Given the description of an element on the screen output the (x, y) to click on. 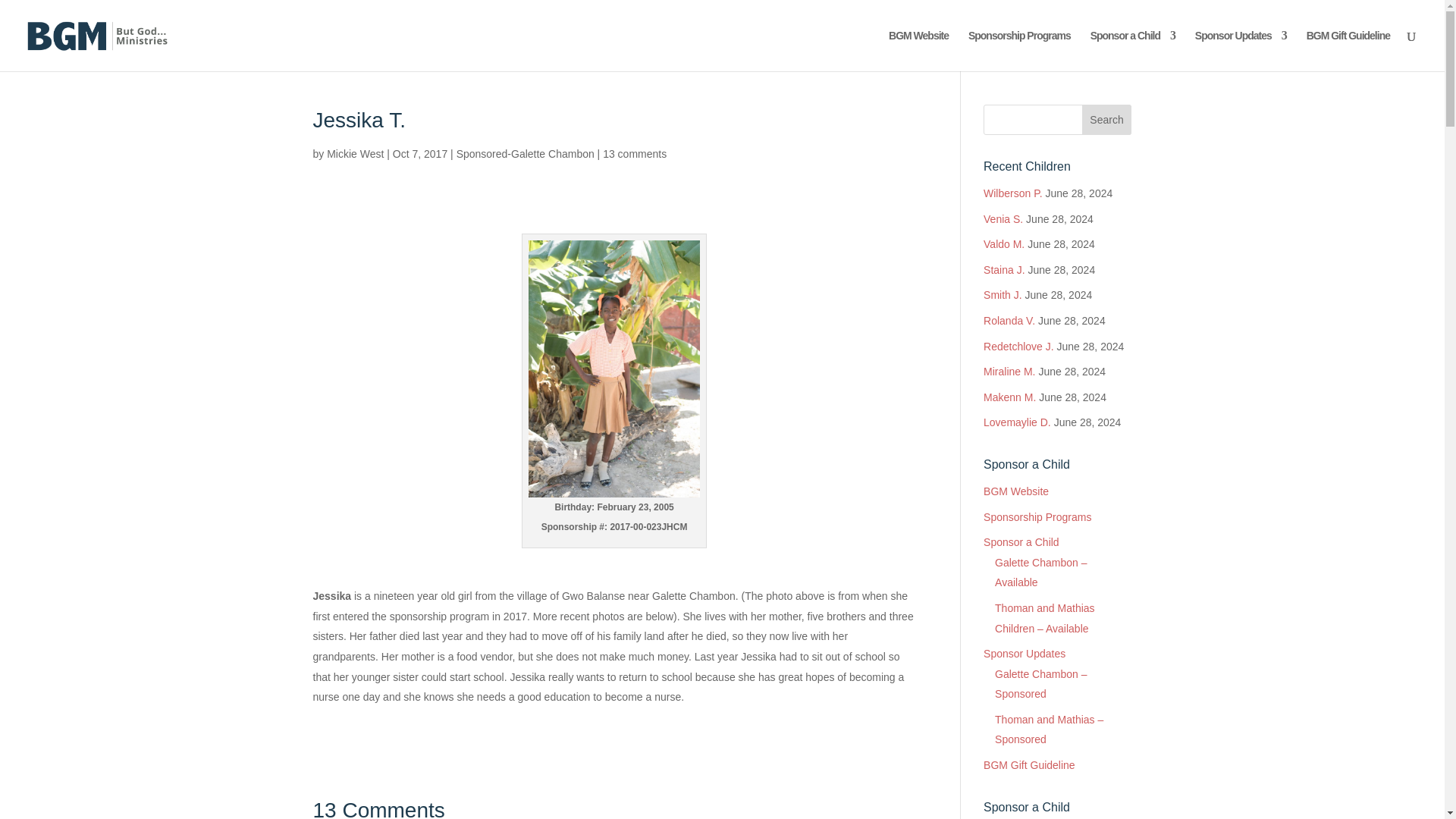
Mickie West (355, 153)
BGM Gift Guideline (1348, 50)
13 comments (634, 153)
Venia S. (1003, 218)
Valdo M. (1004, 244)
Sponsored-Galette Chambon (525, 153)
Sponsorship Programs (1019, 50)
BGM Website (918, 50)
Posts by Mickie West (355, 153)
Sponsor a Child (1132, 50)
